Given the description of an element on the screen output the (x, y) to click on. 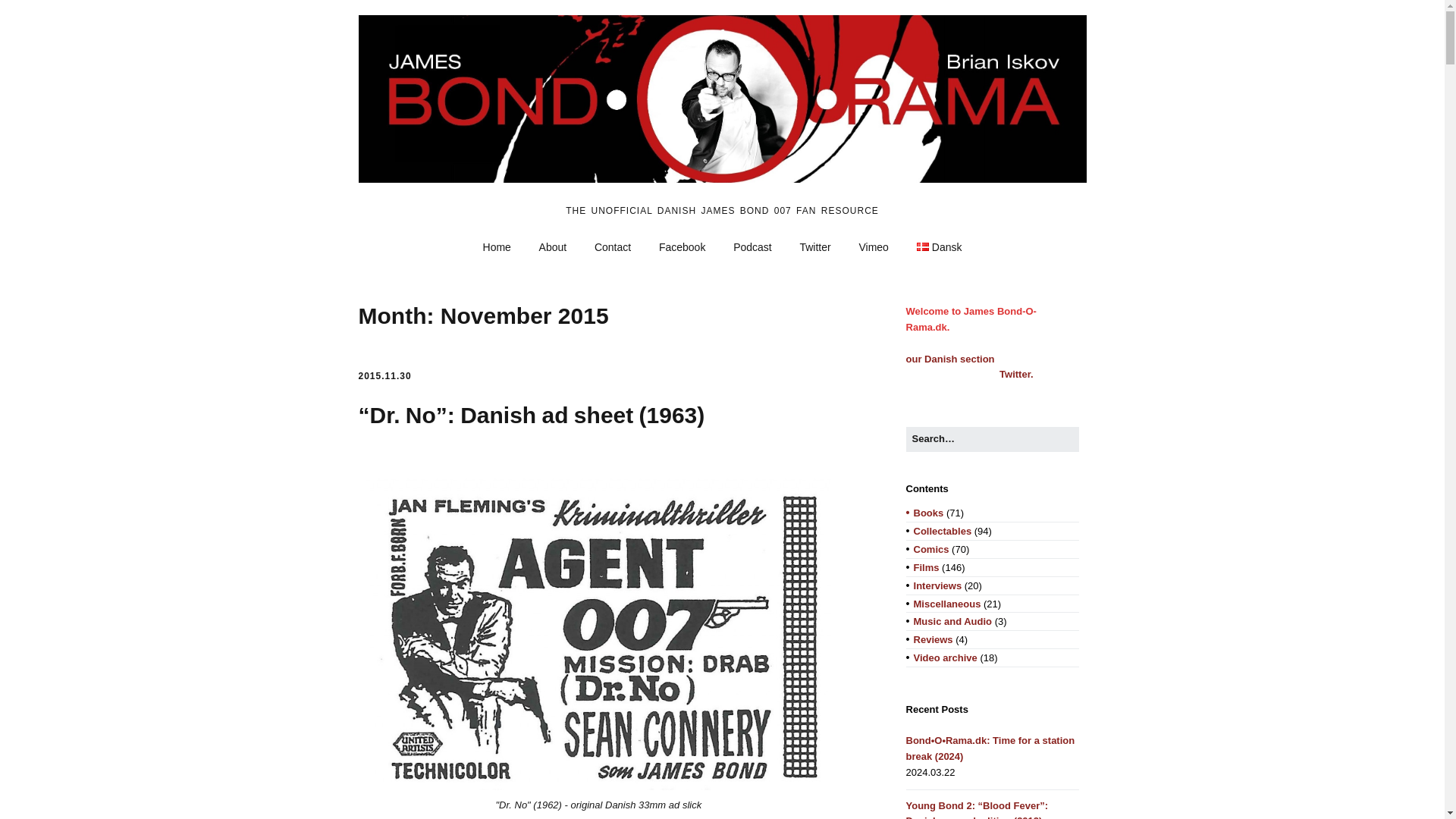
View all posts filed under Collectables (943, 531)
Facebook (681, 247)
2015.11.30 (384, 376)
Vimeo (872, 247)
View all posts filed under Films (926, 567)
Twitter (815, 247)
View all posts filed under Books (928, 512)
Dansk (939, 247)
Home (496, 247)
